Given the description of an element on the screen output the (x, y) to click on. 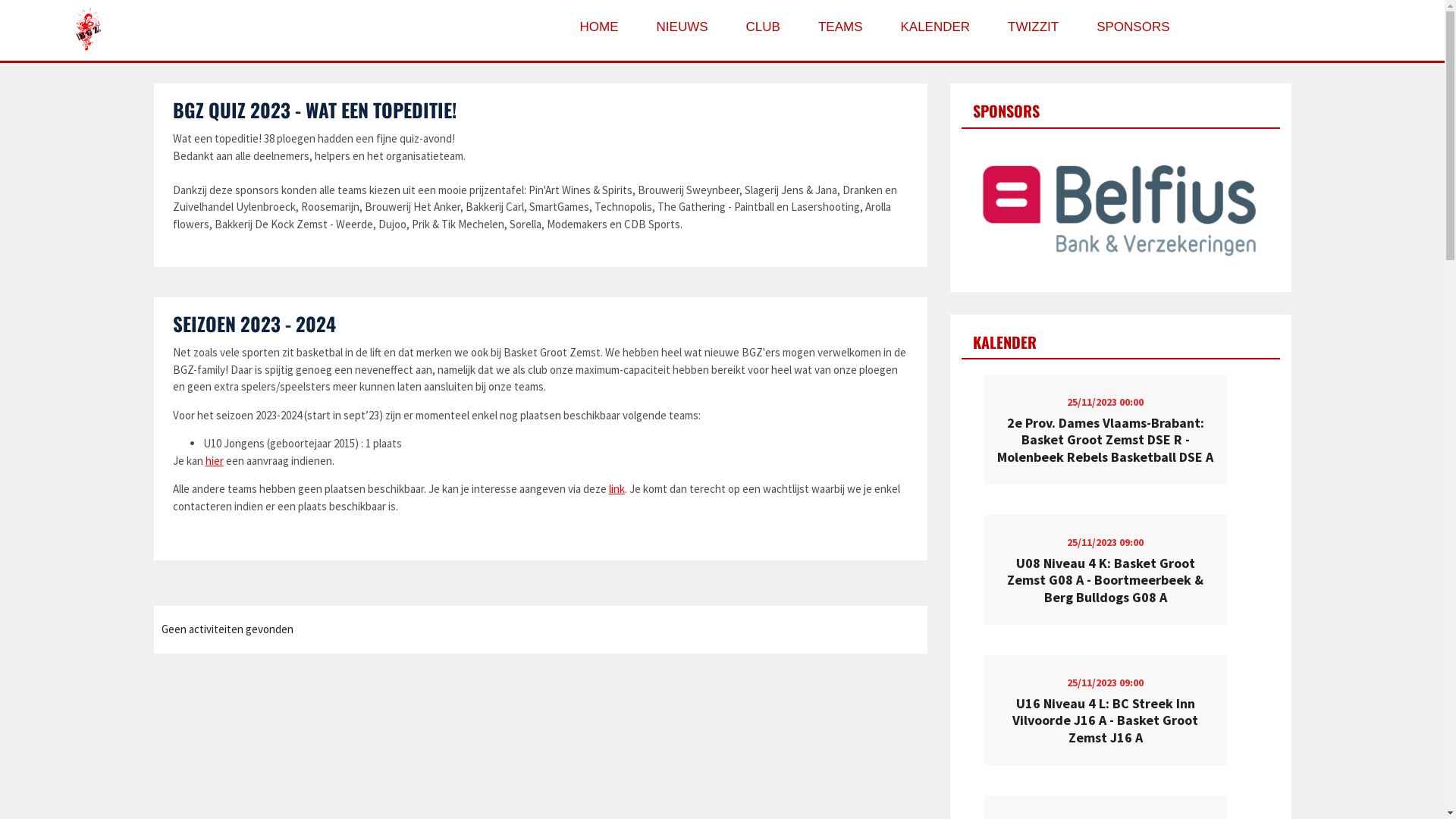
HOME Element type: text (599, 27)
hier Element type: text (213, 460)
CLUB Element type: text (763, 27)
KALENDER Element type: text (934, 27)
NIEUWS Element type: text (682, 27)
TWIZZIT Element type: text (1032, 27)
TEAMS Element type: text (840, 27)
SEIZOEN 2023 - 2024 Element type: text (253, 323)
SPONSORS Element type: text (1132, 27)
BGZ QUIZ 2023 - WAT EEN TOPEDITIE! Element type: text (314, 109)
link Element type: text (616, 488)
